Given the description of an element on the screen output the (x, y) to click on. 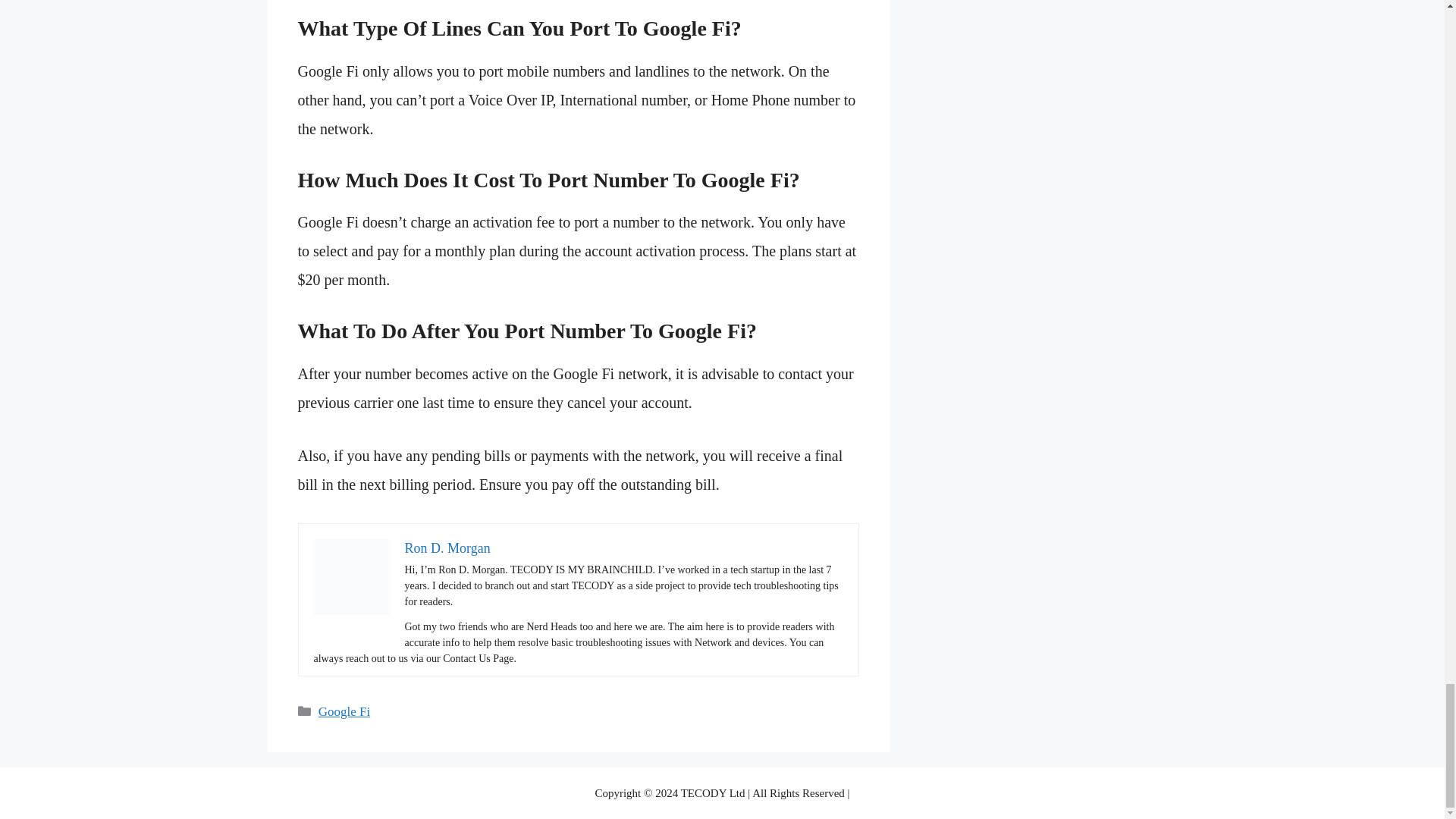
Ron D. Morgan (447, 548)
Google Fi (343, 711)
